Given the description of an element on the screen output the (x, y) to click on. 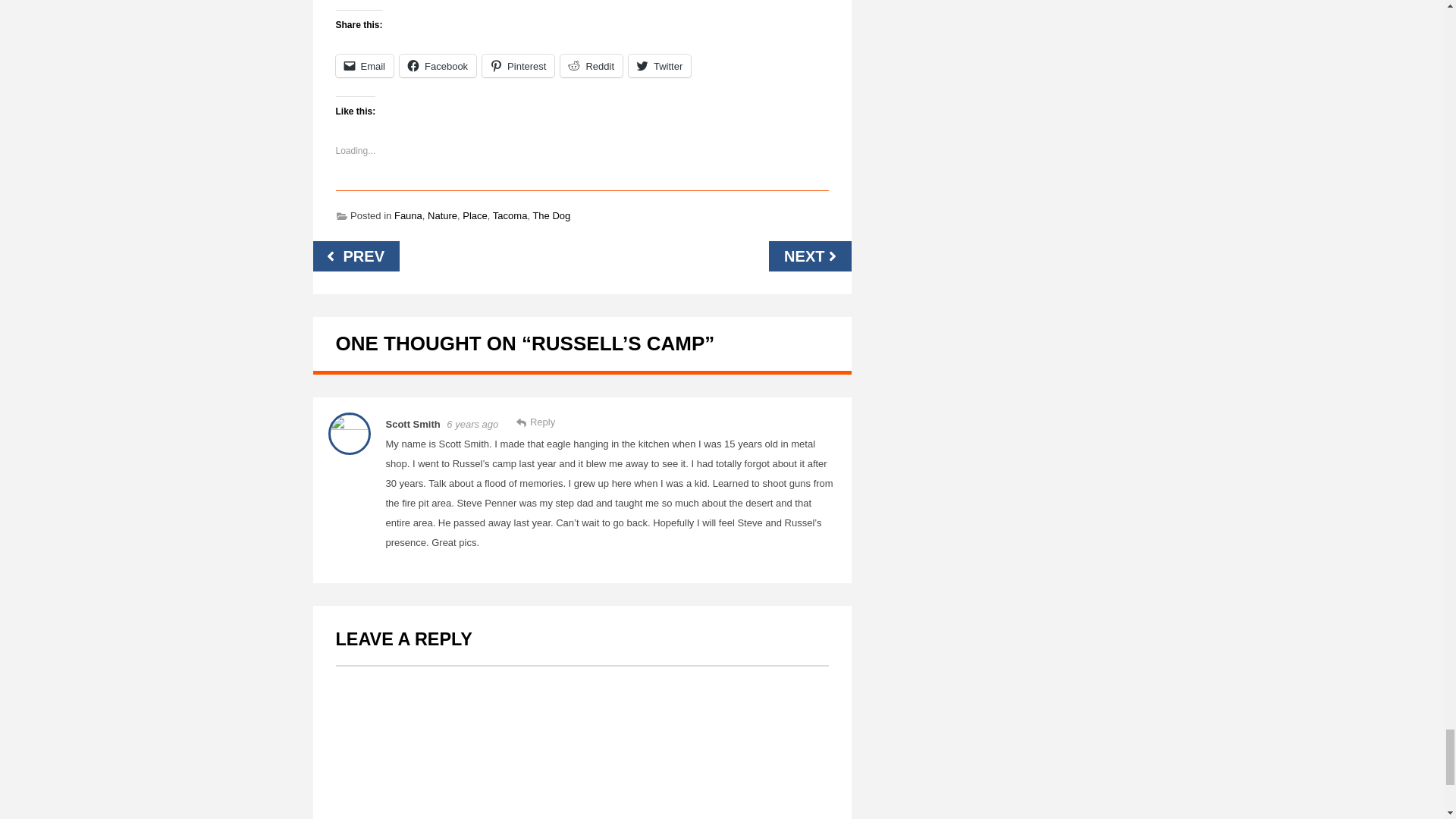
Email (363, 65)
Click to share on Reddit (591, 65)
Comment Form (581, 742)
Click to email a link to a friend (363, 65)
Click to share on Facebook (437, 65)
Click to share on Twitter (659, 65)
Click to share on Pinterest (517, 65)
